Given the description of an element on the screen output the (x, y) to click on. 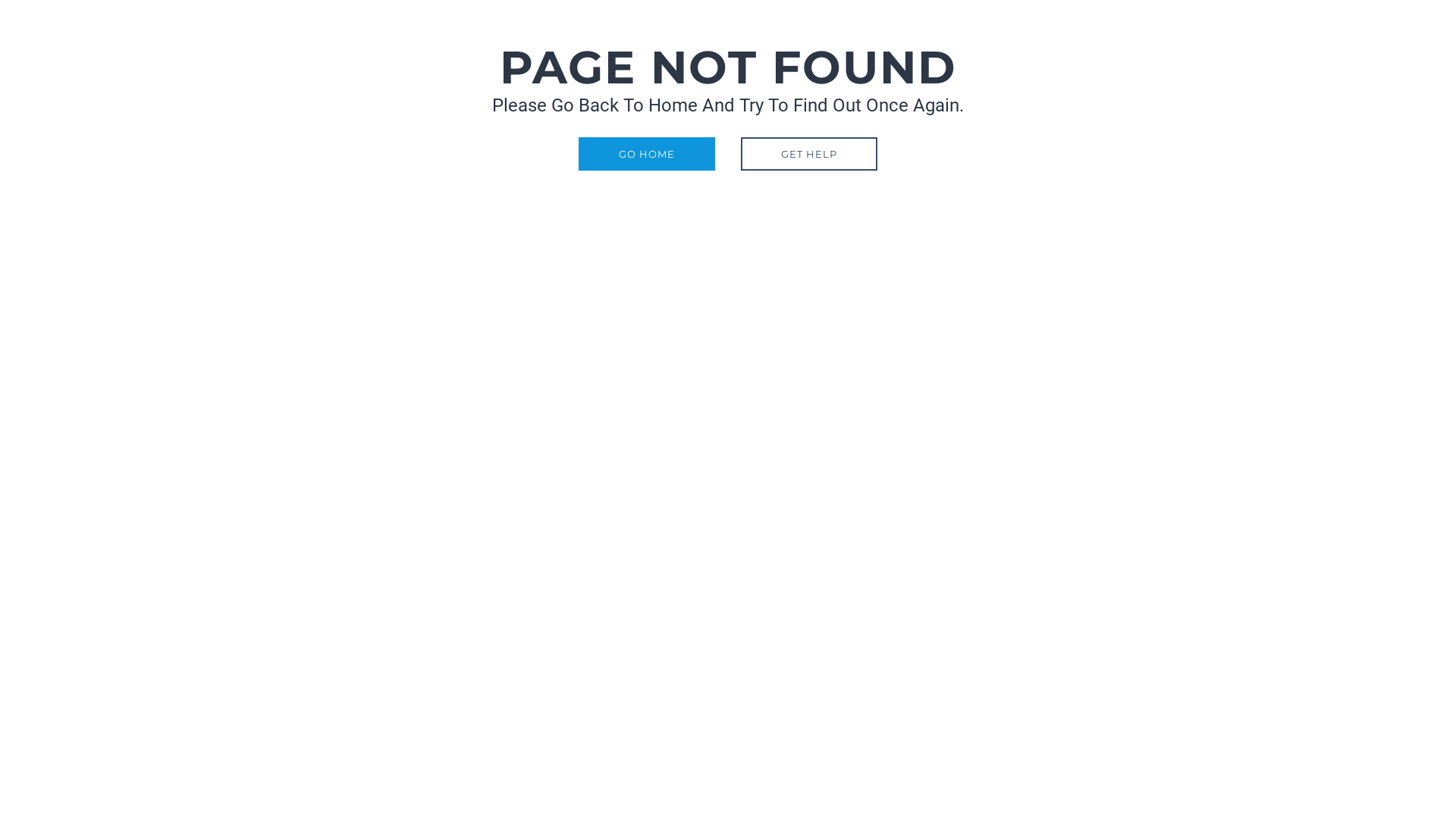
GET HELP Element type: text (808, 153)
GO HOME Element type: text (646, 153)
